Given the description of an element on the screen output the (x, y) to click on. 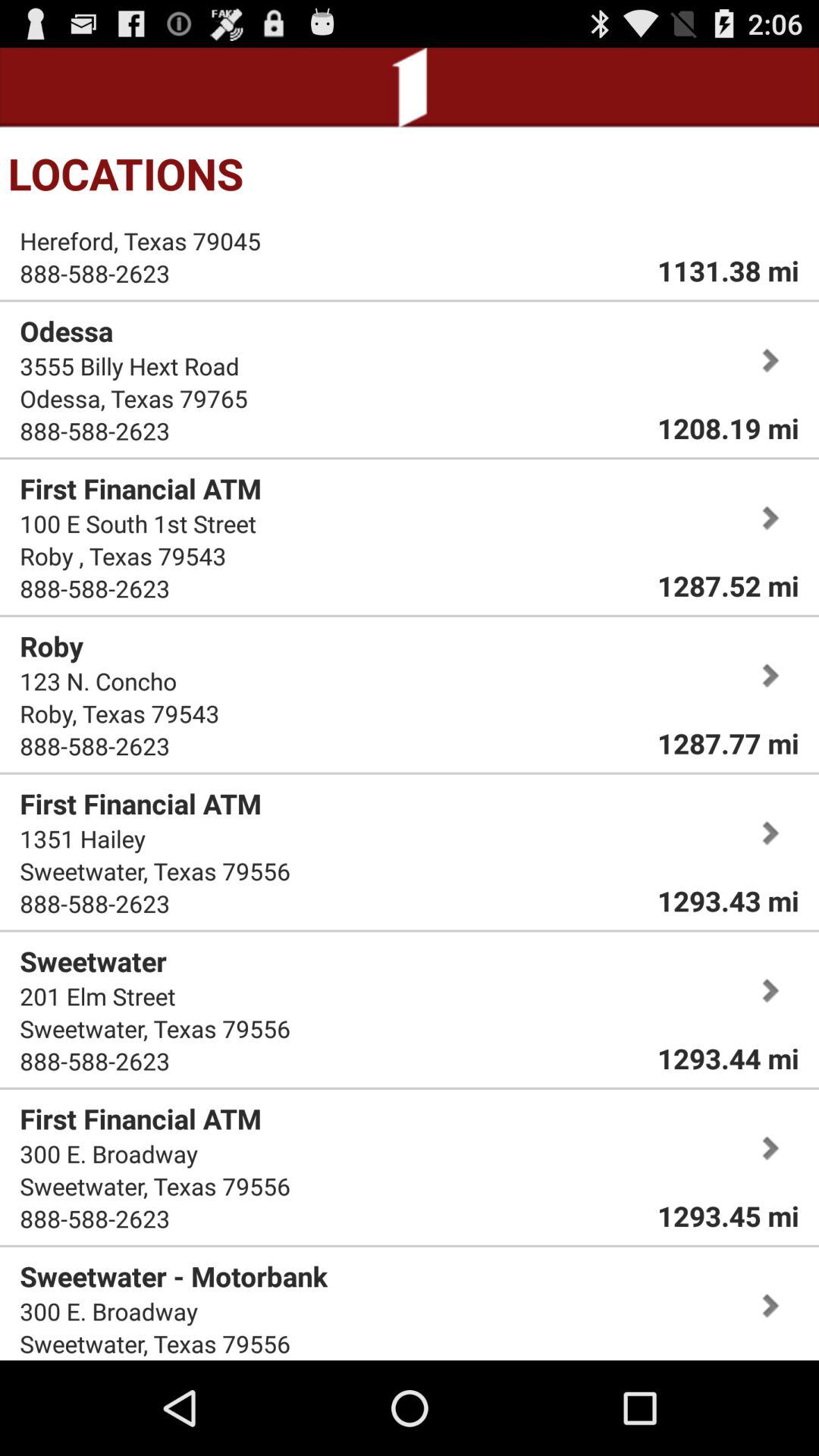
scroll until 201 elm street icon (97, 995)
